Given the description of an element on the screen output the (x, y) to click on. 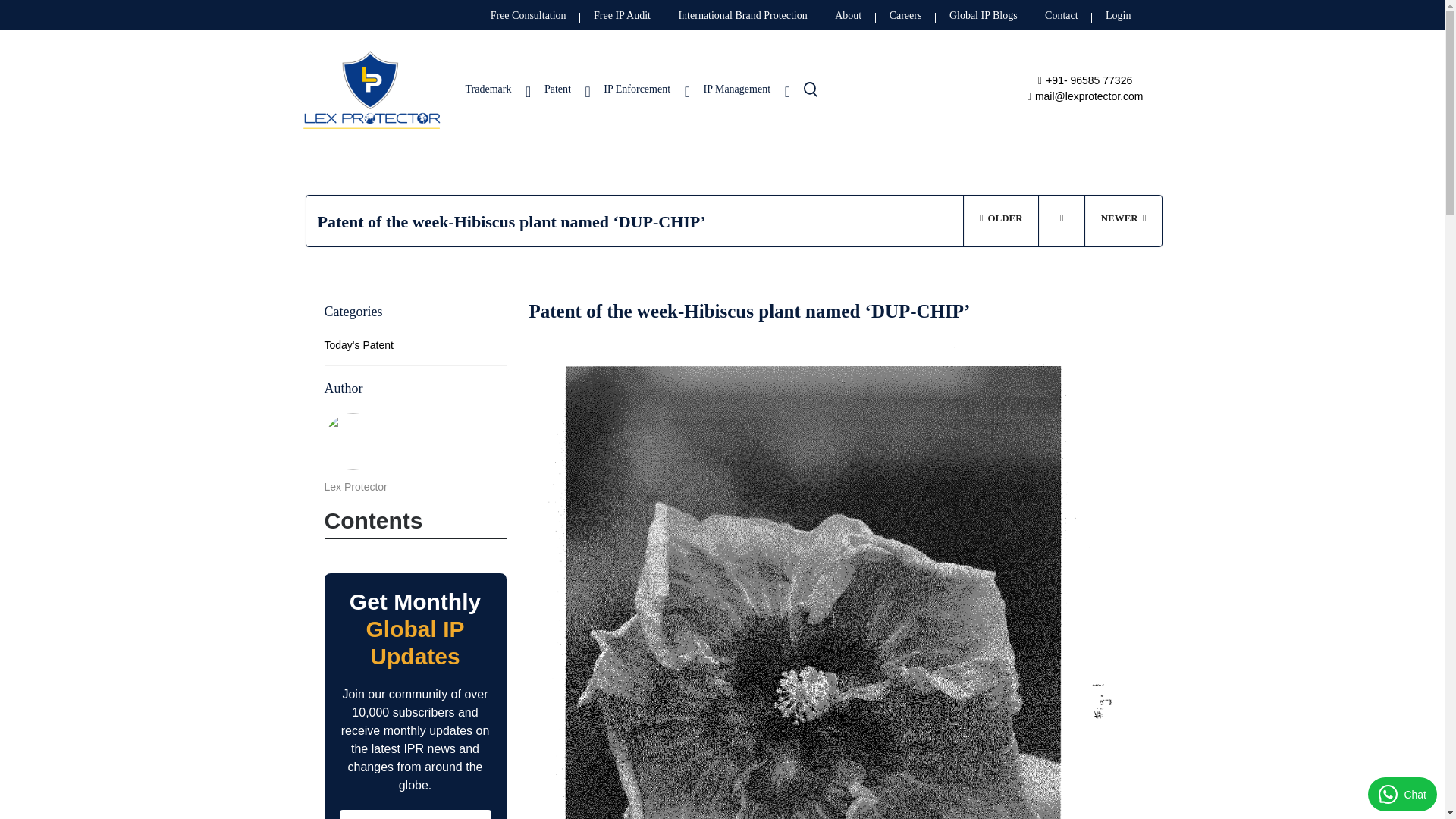
Free IP Audit (622, 15)
International Brand Protection (742, 15)
Careers (905, 15)
Free Consultation (528, 15)
Login (1118, 15)
About (847, 15)
Trademark (493, 107)
Contact (1061, 15)
Global IP Blogs (983, 15)
Trademark (493, 107)
